Given the description of an element on the screen output the (x, y) to click on. 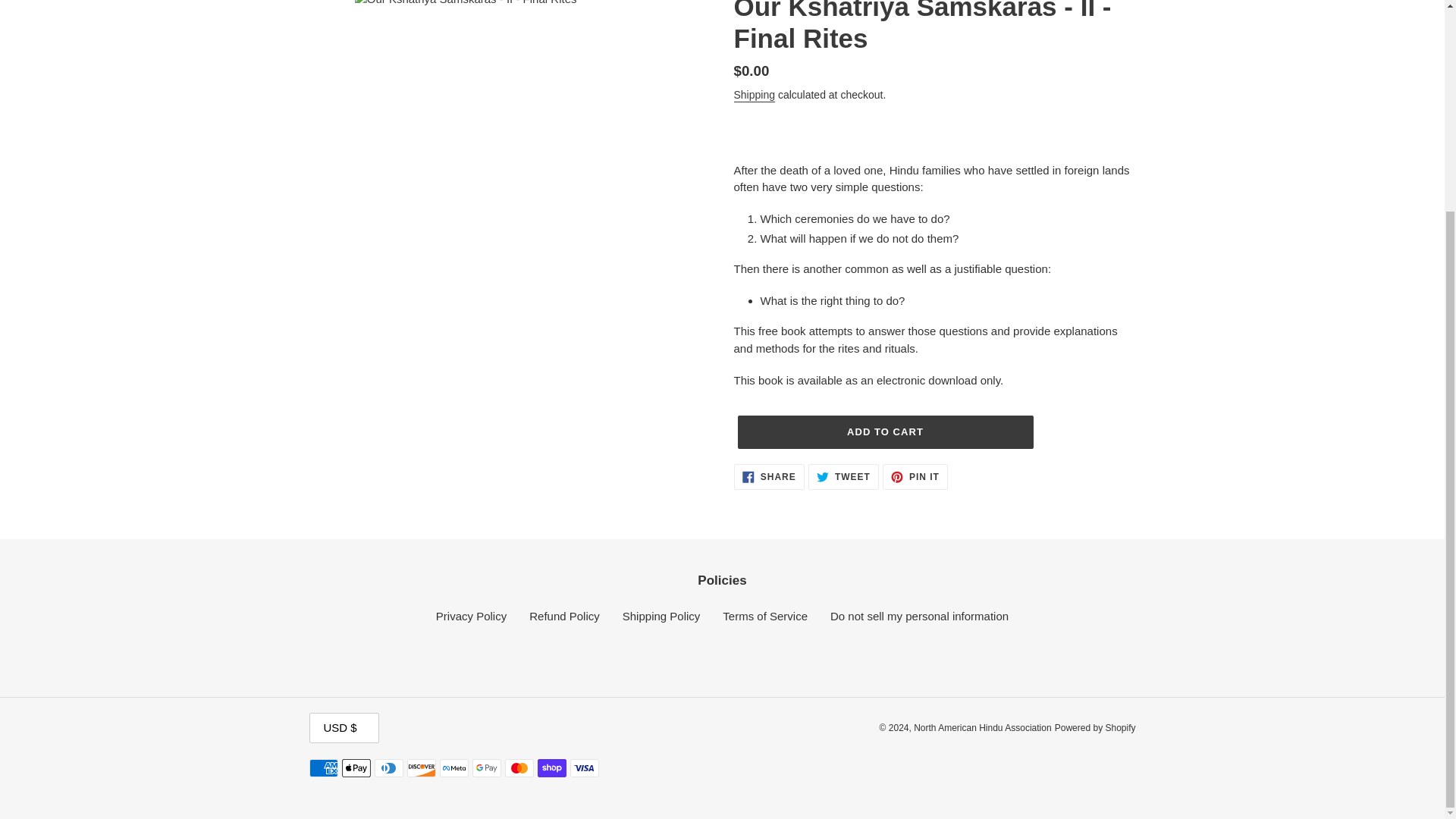
ADD TO CART (884, 431)
Do not sell my personal information (769, 476)
Shipping Policy (919, 615)
Terms of Service (661, 615)
Privacy Policy (765, 615)
Shipping (470, 615)
Refund Policy (754, 95)
